Given the description of an element on the screen output the (x, y) to click on. 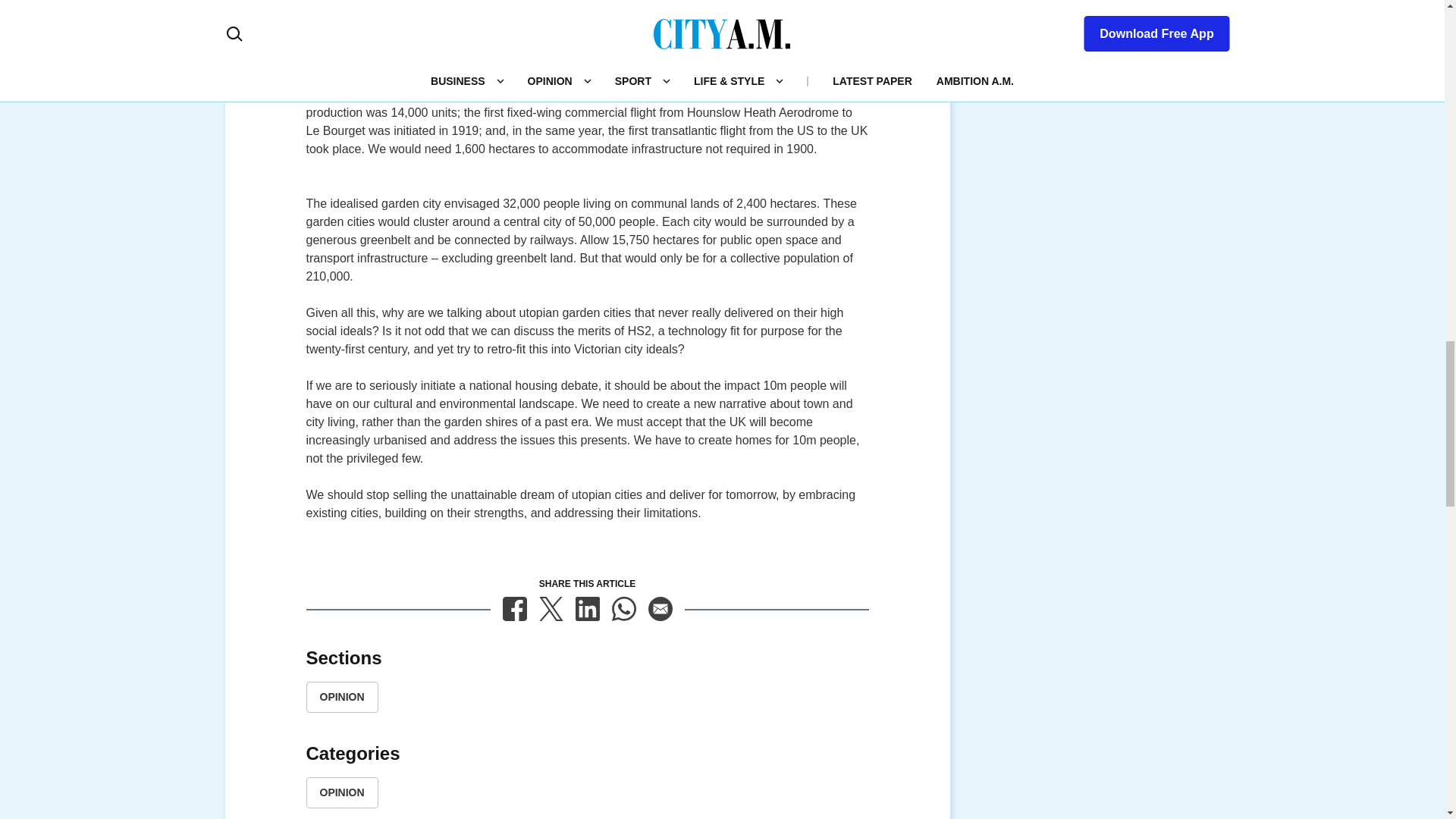
WhatsApp (622, 608)
X (550, 608)
Facebook (513, 608)
LinkedIn (586, 608)
Email (659, 608)
